Given the description of an element on the screen output the (x, y) to click on. 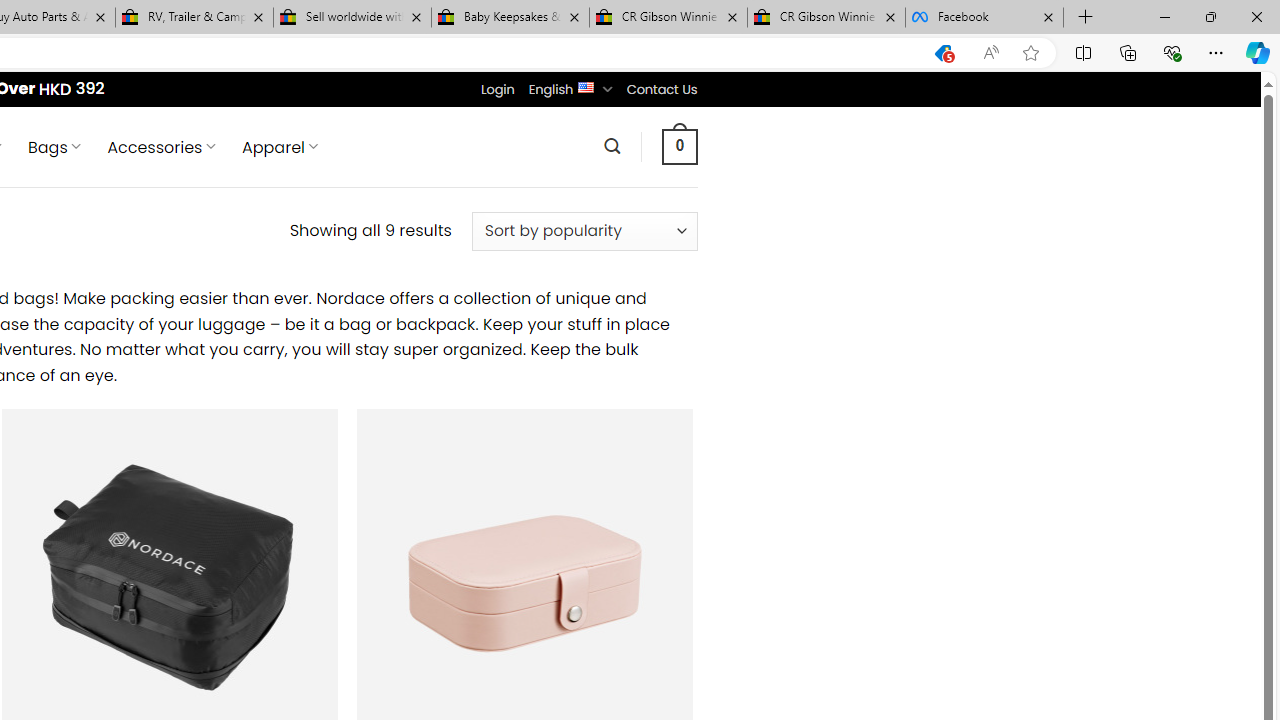
Restore (1210, 16)
Login (497, 89)
Split screen (1083, 52)
Add this page to favorites (Ctrl+D) (1030, 53)
English (586, 86)
This site has coupons! Shopping in Microsoft Edge, 5 (943, 53)
Contact Us (661, 89)
Read aloud this page (Ctrl+Shift+U) (991, 53)
RV, Trailer & Camper Steps & Ladders for sale | eBay (194, 17)
Settings and more (Alt+F) (1215, 52)
Login (497, 89)
